Given the description of an element on the screen output the (x, y) to click on. 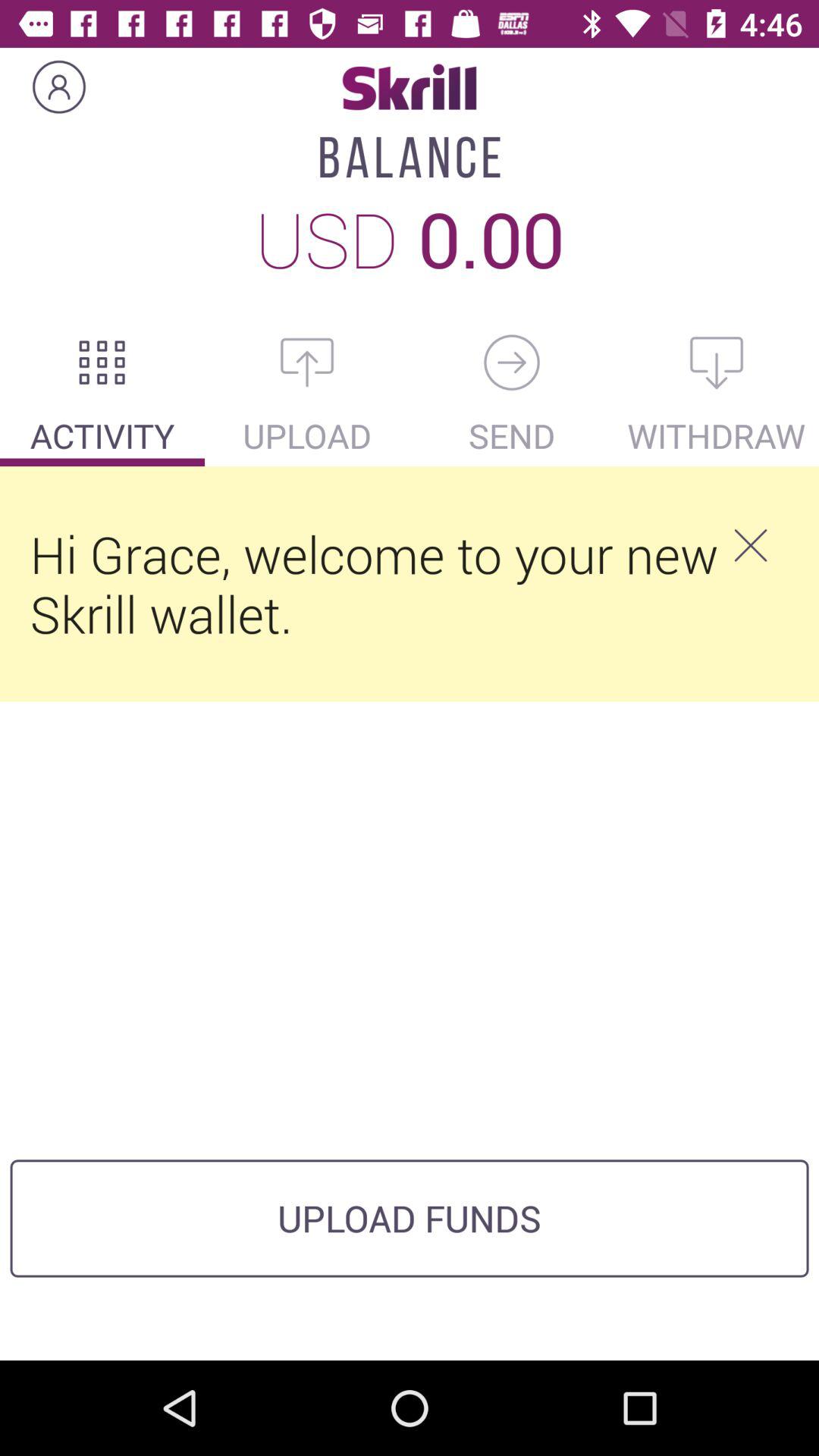
tap the icon below usd icon (306, 362)
